Given the description of an element on the screen output the (x, y) to click on. 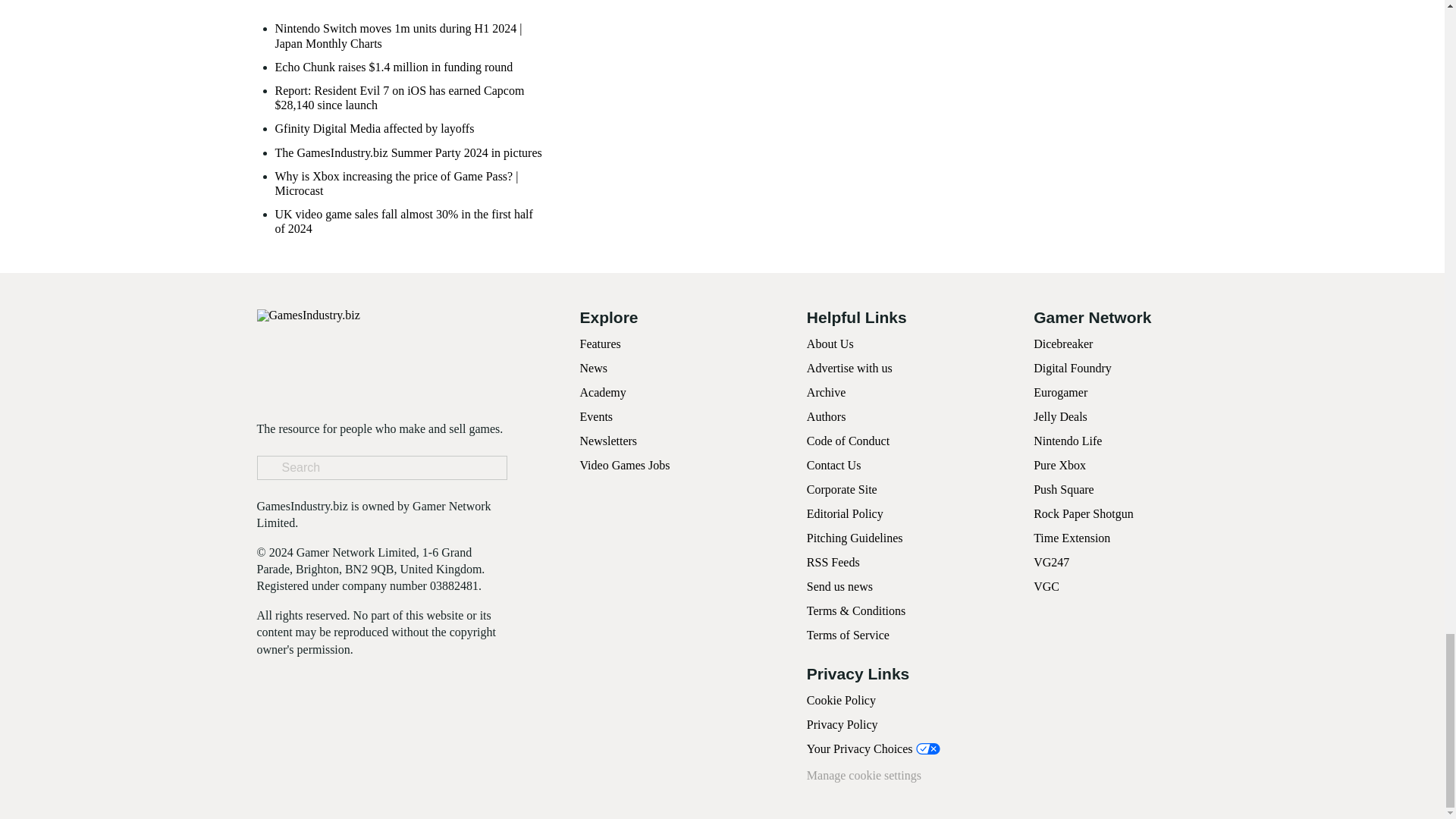
Newsletters (608, 440)
Advertise with us (849, 367)
Features (599, 343)
News (593, 367)
Video Games Jobs (624, 464)
Gfinity Digital Media affected by layoffs (374, 128)
The GamesIndustry.biz Summer Party 2024 in pictures (408, 152)
Academy (602, 391)
Events (595, 416)
Archive (825, 391)
About Us (829, 343)
